Given the description of an element on the screen output the (x, y) to click on. 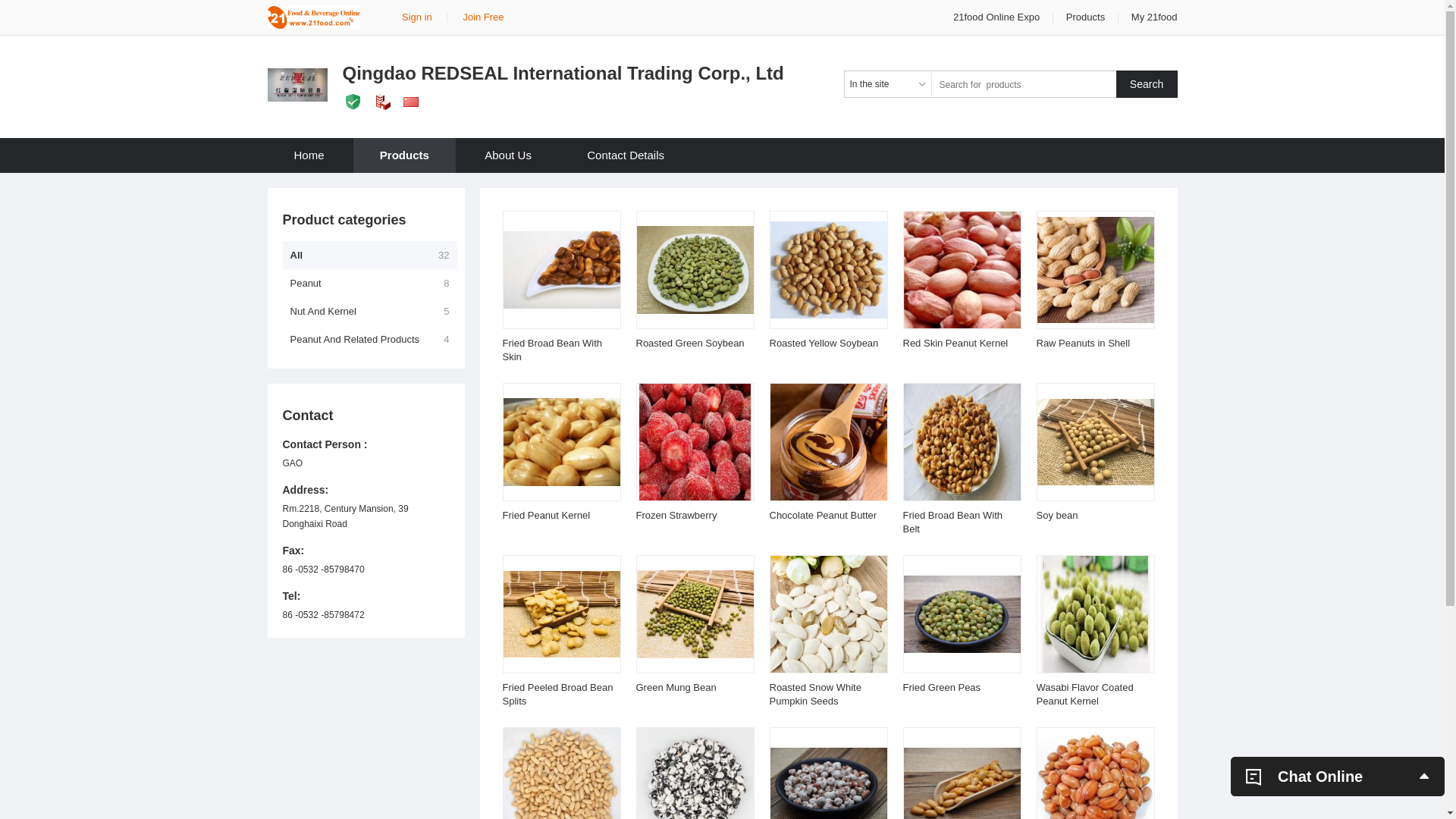
Sign in Element type: text (416, 16)
Roasted Green Soybean Element type: text (689, 342)
Fried Peeled Broad Bean Splits Element type: text (557, 693)
Wasabi Flavor Coated Peanut Kernel Element type: text (1083, 693)
Red Skin Peanut Kernel Element type: text (954, 342)
Join Free Element type: text (482, 16)
Search Element type: text (1146, 83)
About Us Element type: text (508, 155)
Products Element type: text (1085, 16)
Fried Broad Bean With Skin Element type: text (552, 349)
Fried Peanut Kernel Element type: text (545, 514)
Roasted Snow White Pumpkin Seeds Element type: text (814, 693)
Products Element type: text (404, 155)
Contact Details Element type: text (625, 155)
Raw Peanuts in Shell Element type: text (1082, 342)
21food Online Expo Element type: text (997, 16)
Green Mung Bean Element type: text (675, 687)
Roasted Yellow Soybean Element type: text (823, 342)
Fried Broad Bean With Belt Element type: text (952, 521)
Chocolate Peanut Butter Element type: text (822, 514)
Home Element type: text (308, 155)
Fried Green Peas Element type: text (941, 687)
Frozen Strawberry Element type: text (675, 514)
Soy bean Element type: text (1056, 514)
My 21food Element type: text (1154, 16)
